Given the description of an element on the screen output the (x, y) to click on. 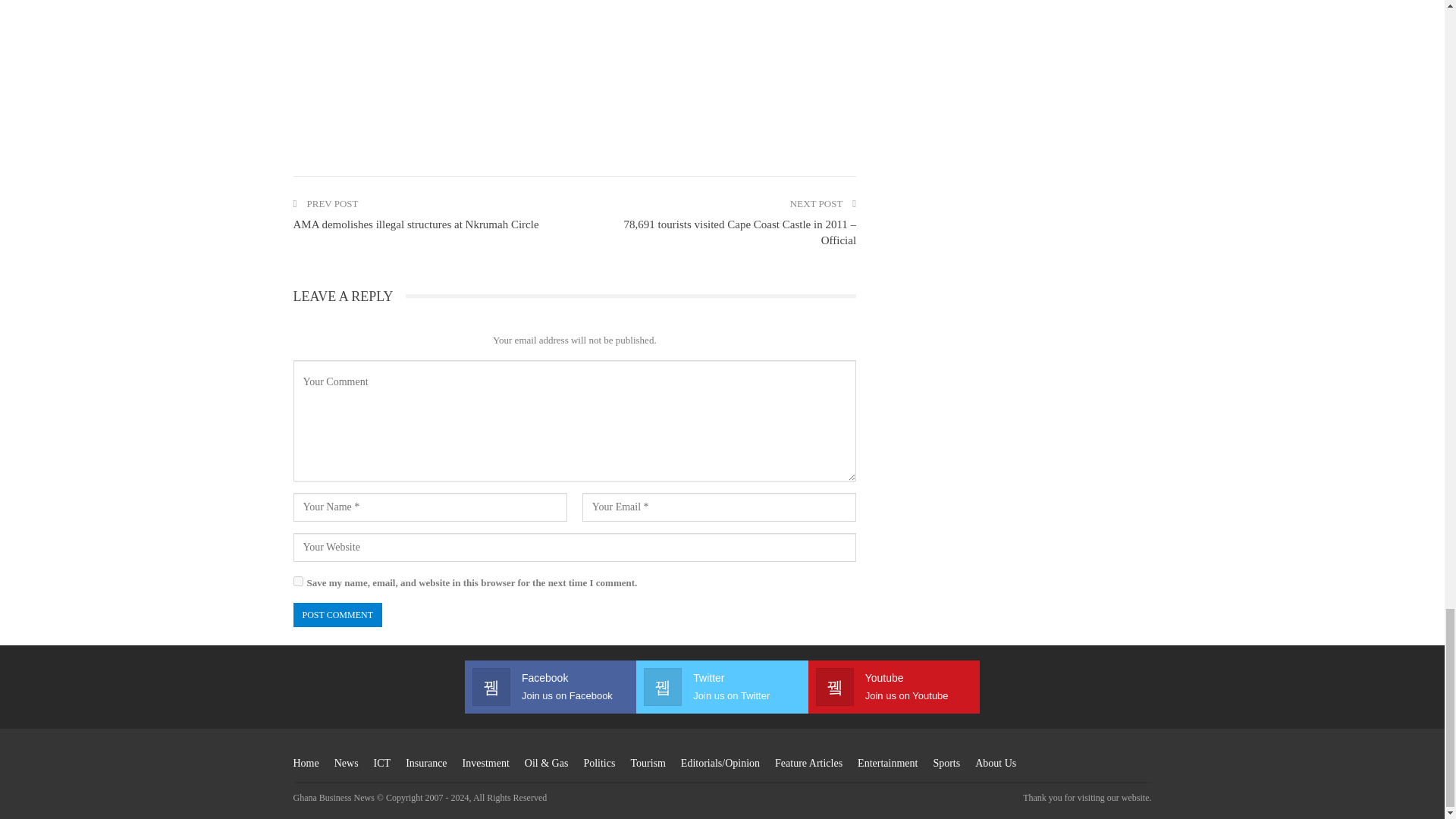
Post Comment (336, 615)
Post Comment (336, 615)
yes (297, 581)
AMA demolishes illegal structures at Nkrumah Circle (415, 224)
